Given the description of an element on the screen output the (x, y) to click on. 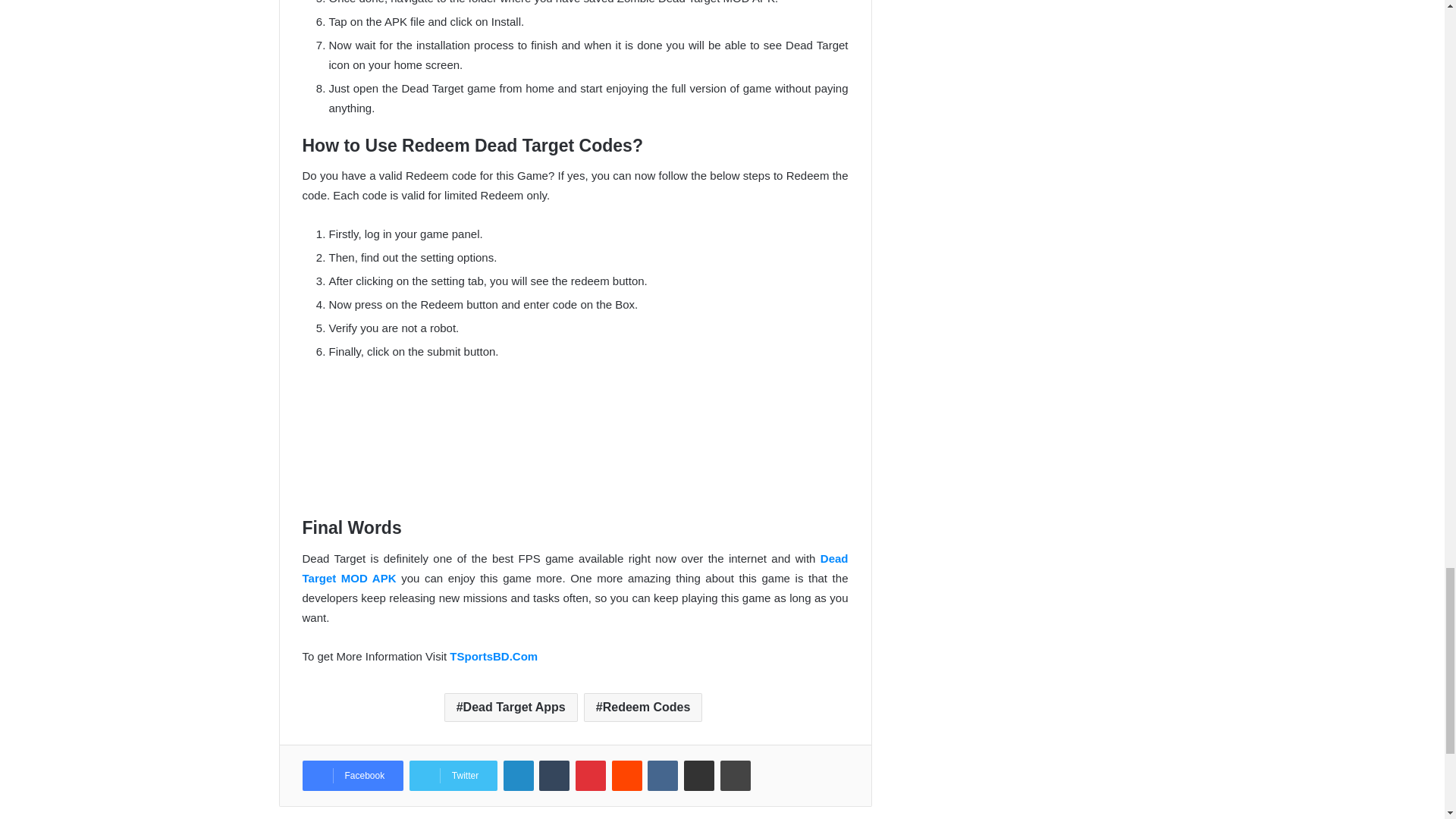
Twitter (453, 775)
Facebook (352, 775)
Reddit (626, 775)
Pinterest (590, 775)
Print (735, 775)
Tumblr (553, 775)
Share via Email (699, 775)
LinkedIn (518, 775)
VKontakte (662, 775)
